Given the description of an element on the screen output the (x, y) to click on. 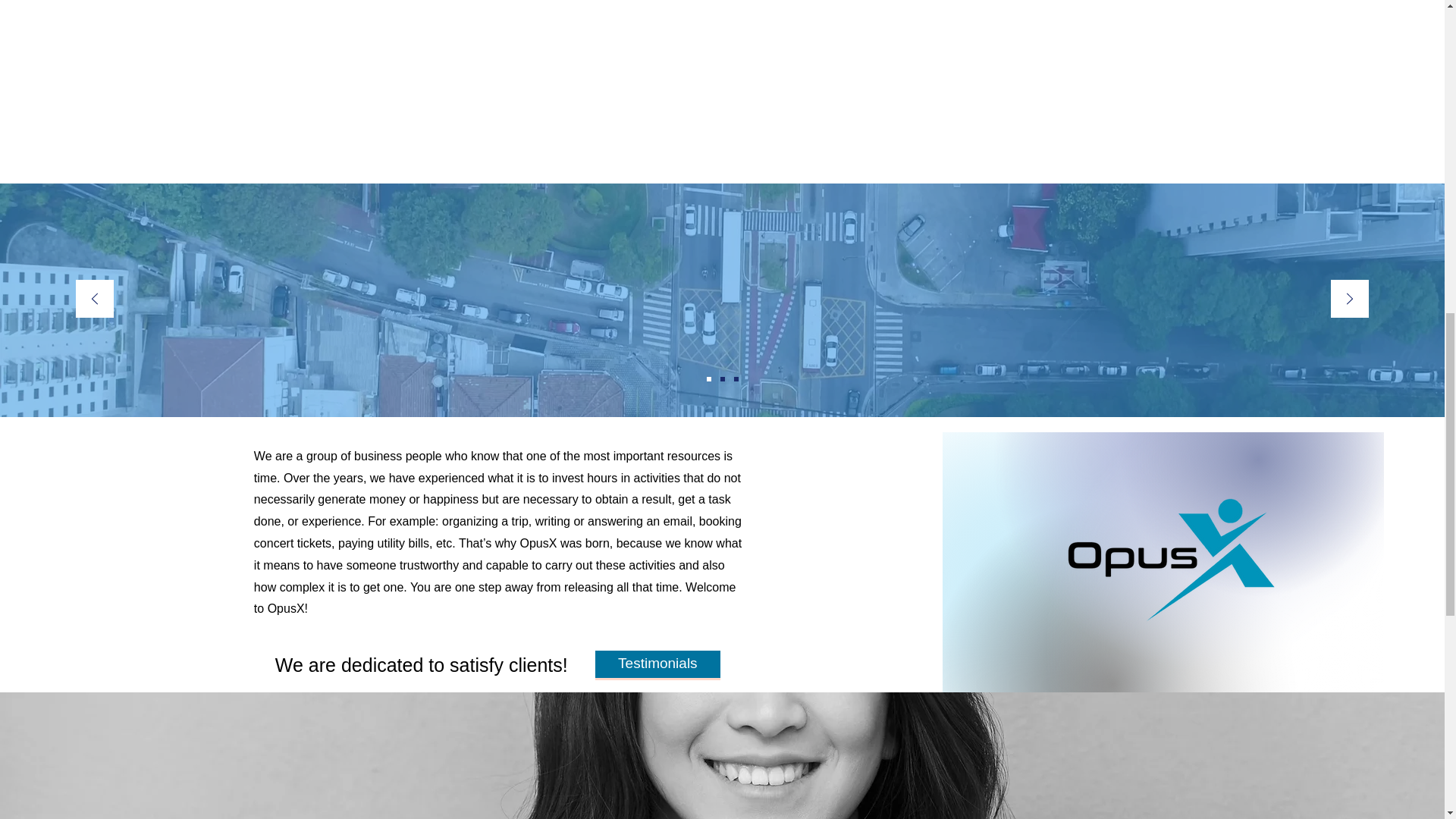
Logo.png (1158, 559)
Testimonials (657, 664)
